Given the description of an element on the screen output the (x, y) to click on. 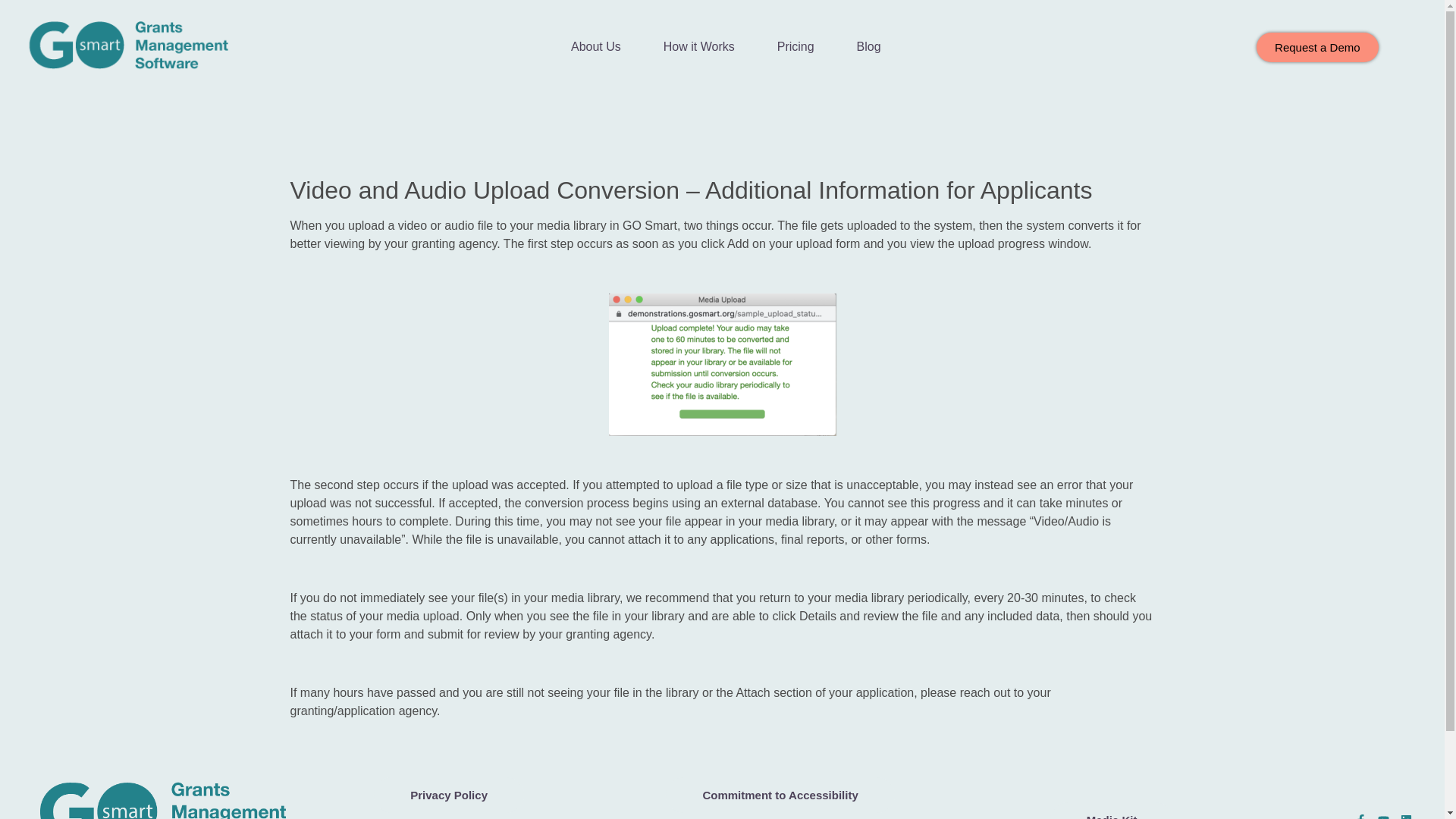
Blog (868, 46)
Request a Demo (1317, 47)
About Us (596, 46)
How it Works (698, 46)
Privacy Policy (449, 795)
Media Kit (1111, 810)
Commitment to Accessibility (779, 795)
Pricing (795, 46)
